Given the description of an element on the screen output the (x, y) to click on. 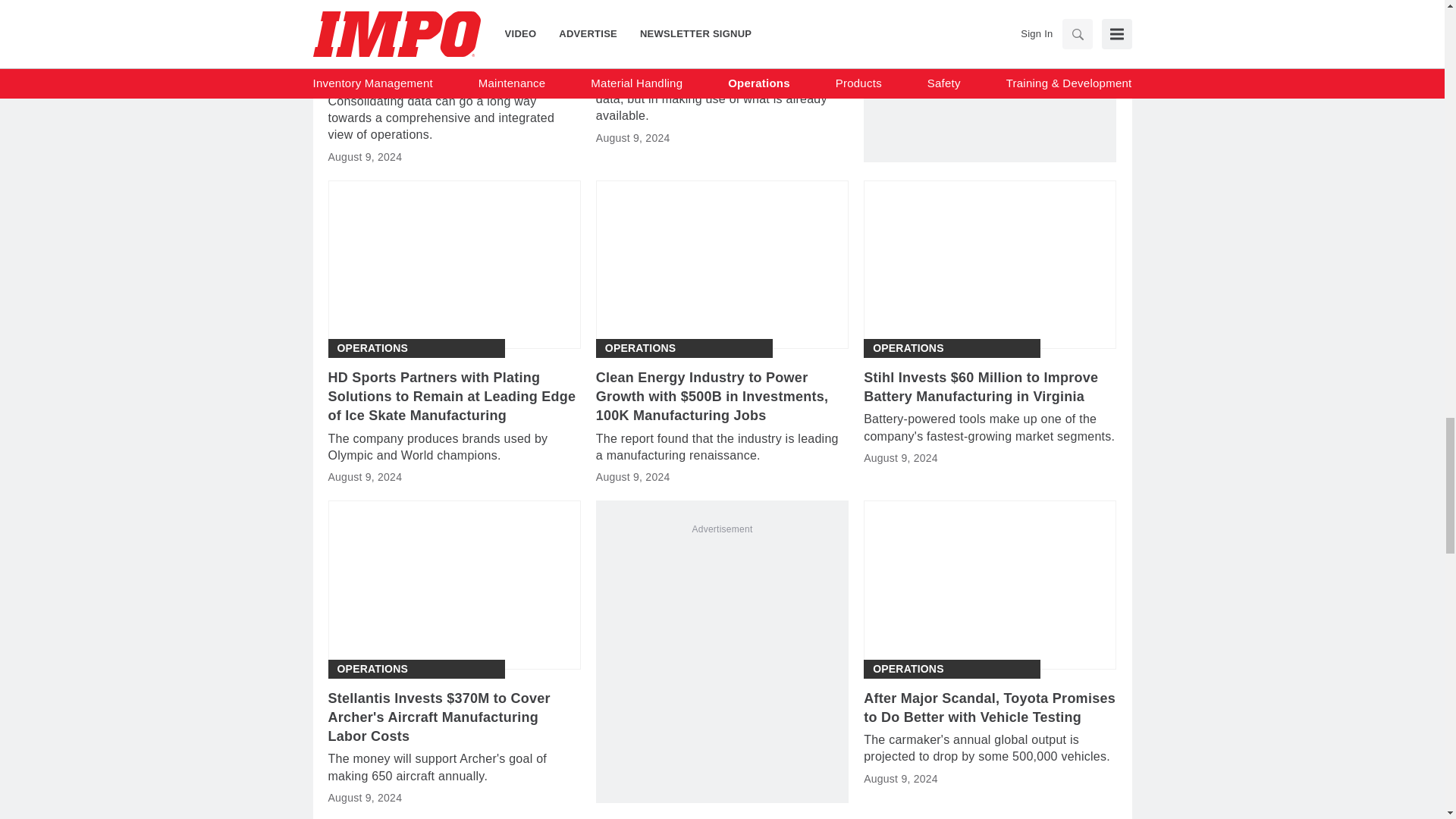
Operations (371, 29)
Operations (641, 29)
Operations (371, 348)
